Given the description of an element on the screen output the (x, y) to click on. 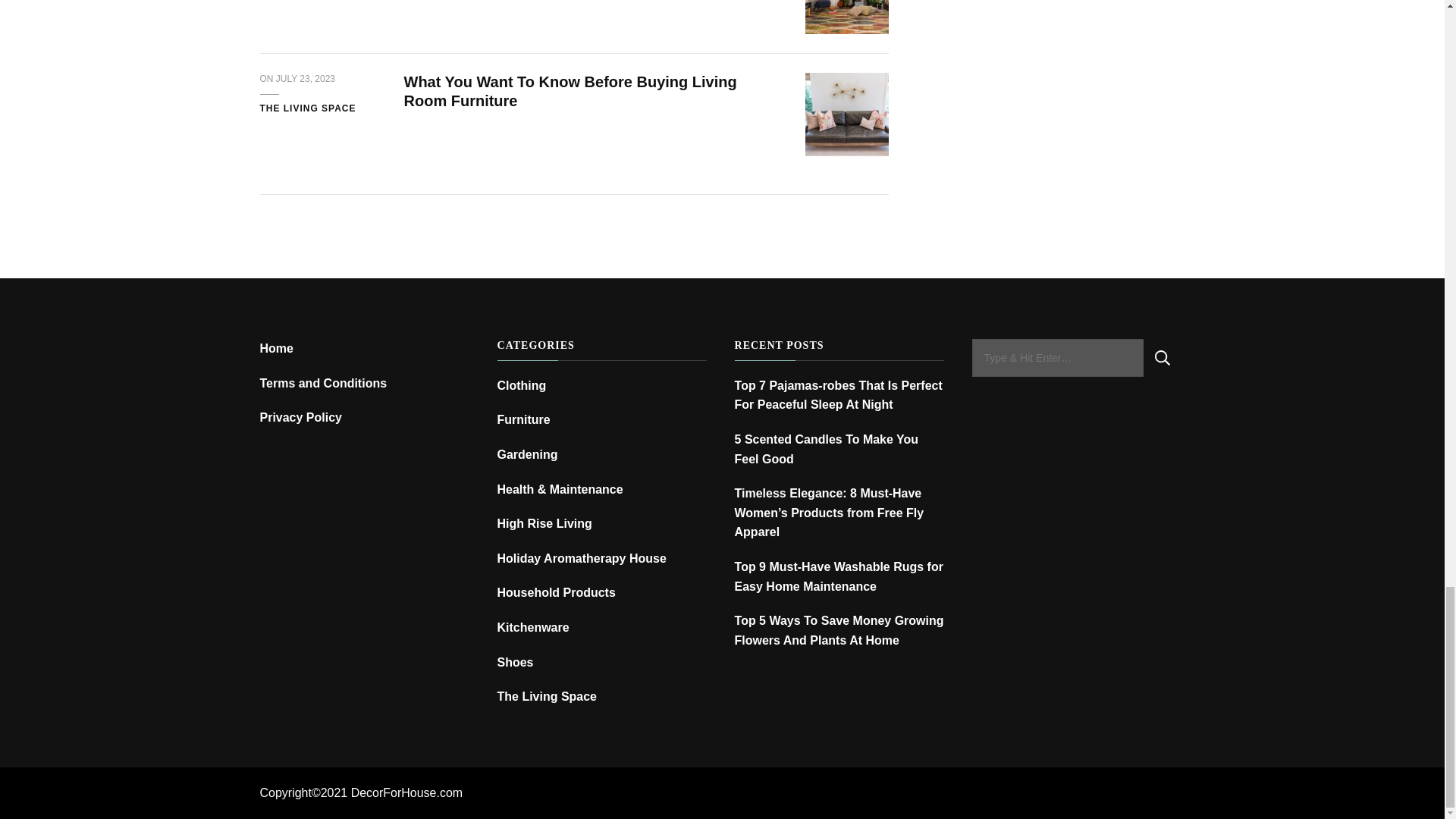
THE LIVING SPACE (307, 109)
Search (1161, 357)
What You Want To Know Before Buying Living Room Furniture (569, 90)
Search (1161, 357)
JULY 23, 2023 (305, 79)
